Given the description of an element on the screen output the (x, y) to click on. 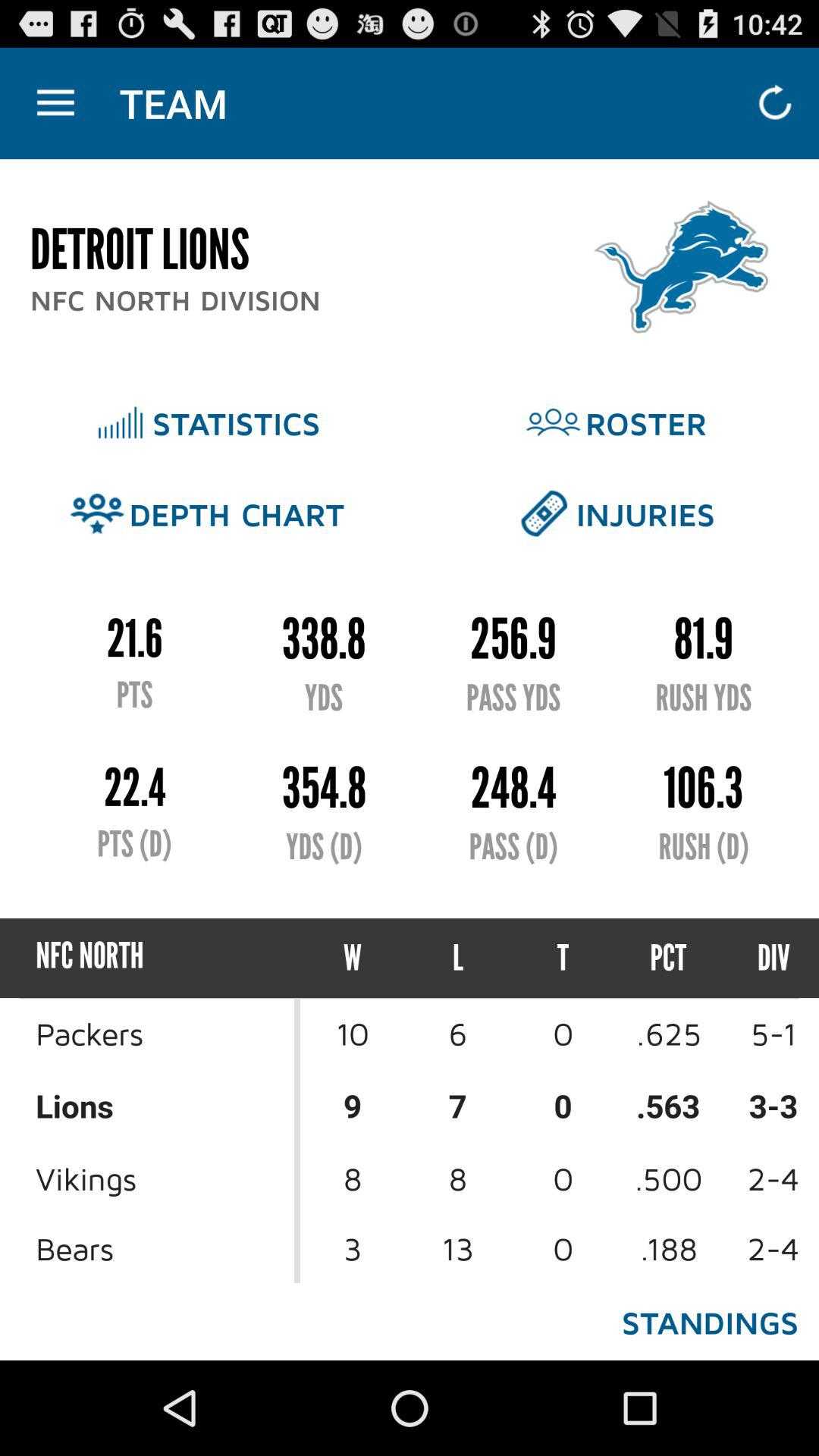
press the item to the left of team item (55, 103)
